Given the description of an element on the screen output the (x, y) to click on. 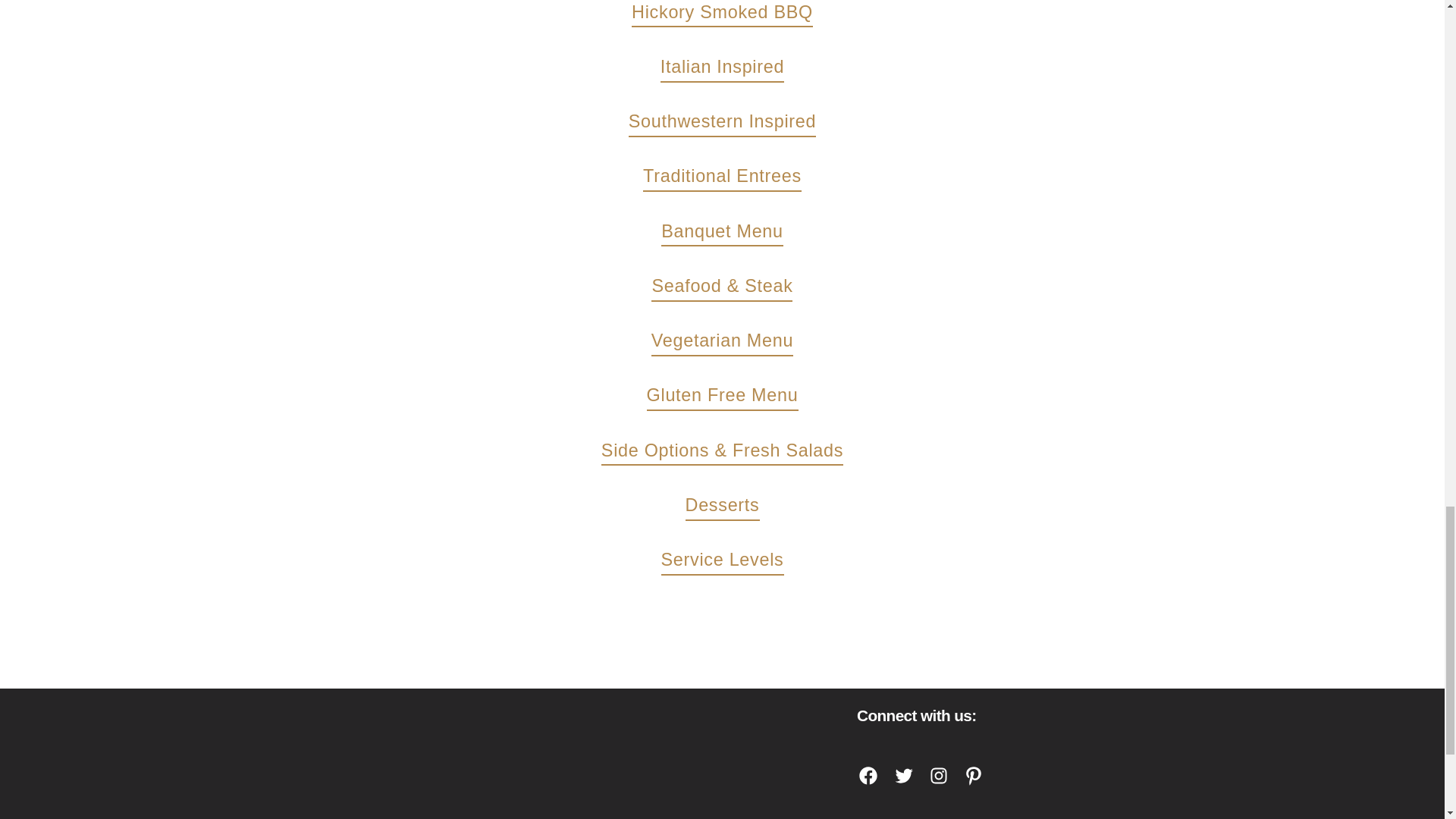
Southwestern Inspired (731, 123)
Service Levels (733, 561)
Hickory Smoked BBQ (731, 14)
Vegetarian Menu (731, 343)
Traditional Entrees (732, 178)
Gluten Free Menu (732, 397)
Italian Inspired (733, 69)
Desserts (732, 507)
Banquet Menu (732, 233)
